Given the description of an element on the screen output the (x, y) to click on. 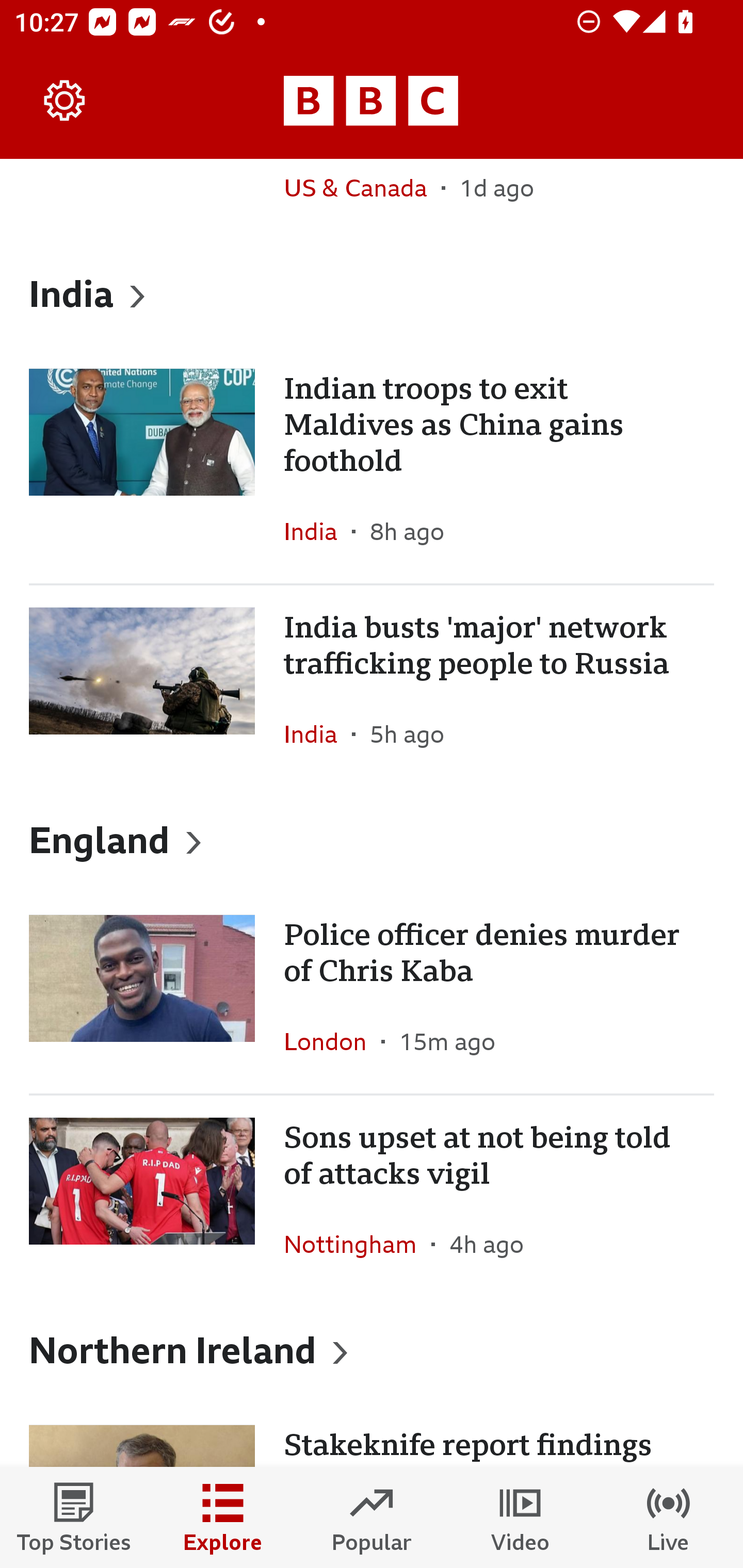
Settings (64, 100)
India, Heading India    (371, 292)
India In the section India (317, 531)
India In the section India (317, 733)
England, Heading England    (371, 838)
London In the section London (332, 1040)
Nottingham In the section Nottingham (357, 1243)
Northern Ireland, Heading Northern Ireland    (371, 1349)
Top Stories (74, 1517)
Popular (371, 1517)
Video (519, 1517)
Live (668, 1517)
